Given the description of an element on the screen output the (x, y) to click on. 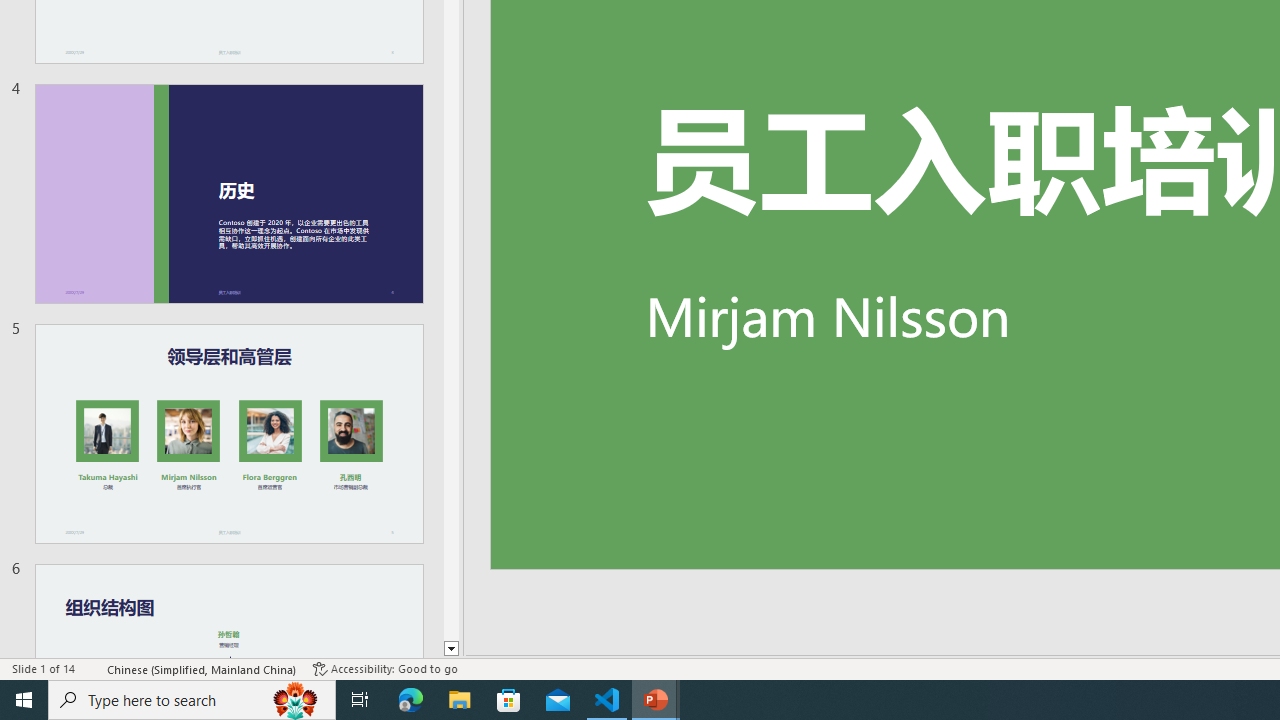
PowerPoint - 2 running windows (656, 699)
Spell Check  (92, 668)
